Given the description of an element on the screen output the (x, y) to click on. 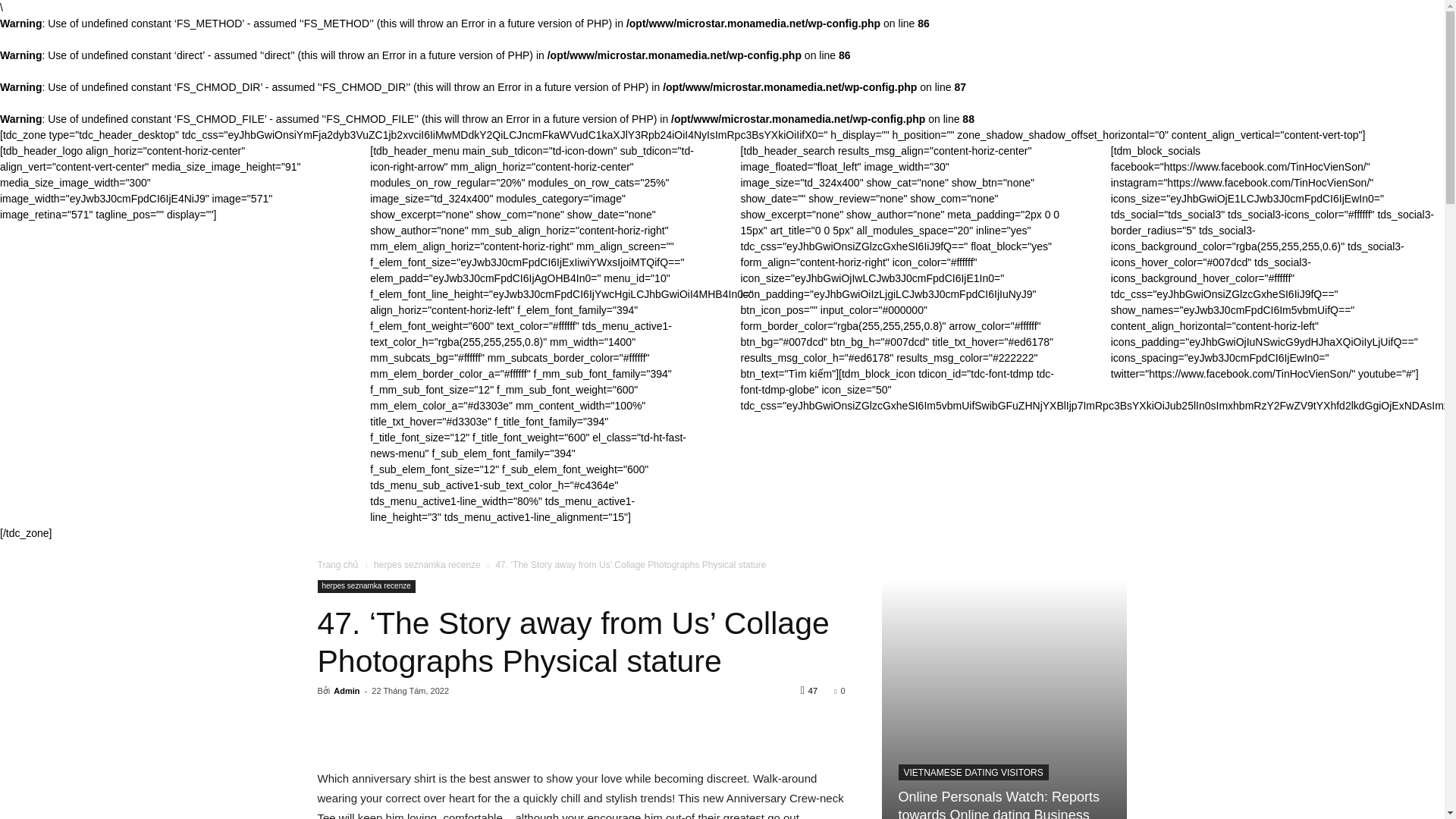
0 (839, 690)
VIETNAMESE DATING VISITORS (973, 772)
herpes seznamka recenze (427, 564)
Admin (346, 690)
herpes seznamka recenze (365, 585)
